Given the description of an element on the screen output the (x, y) to click on. 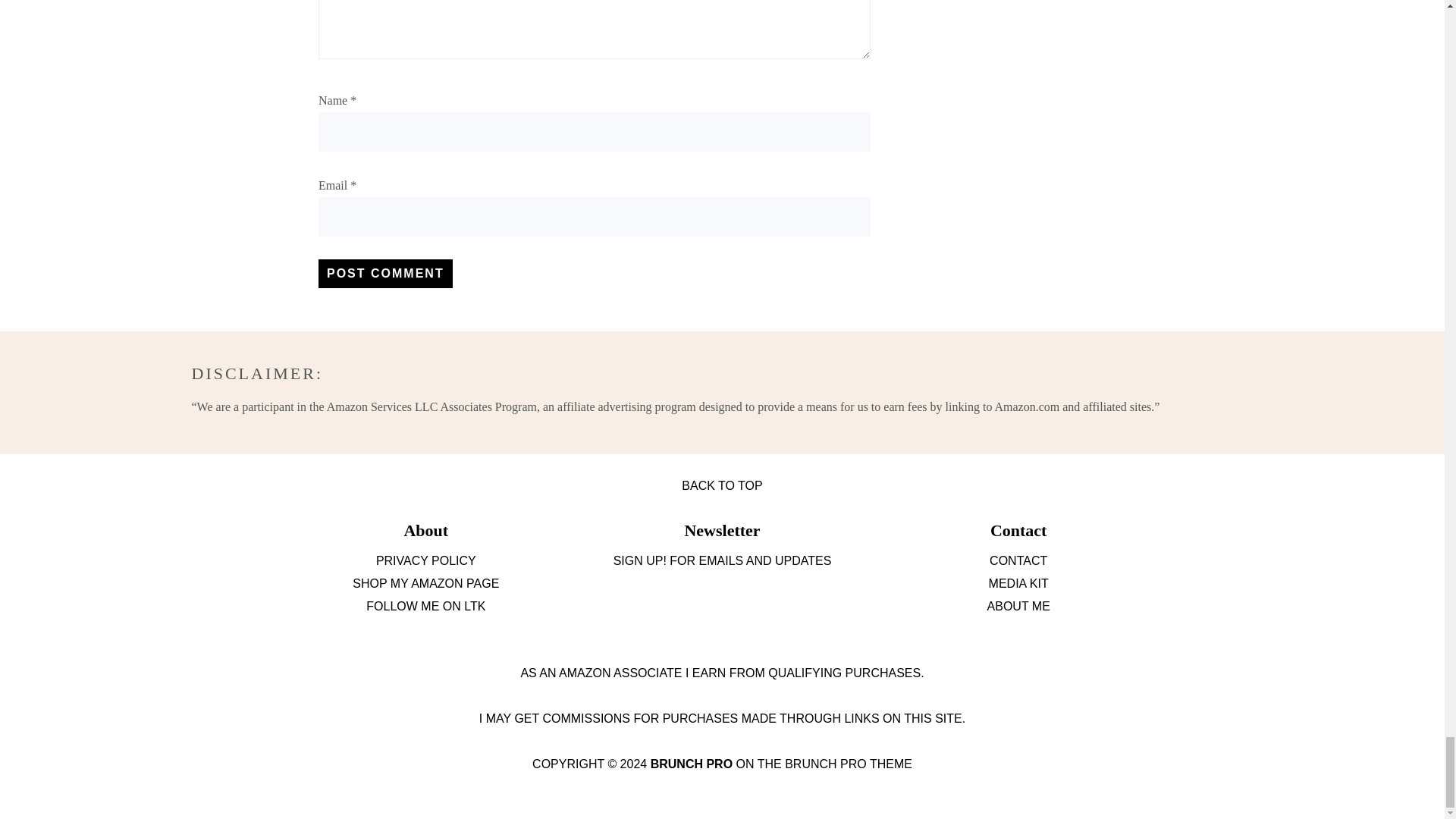
Post Comment (385, 273)
